Given the description of an element on the screen output the (x, y) to click on. 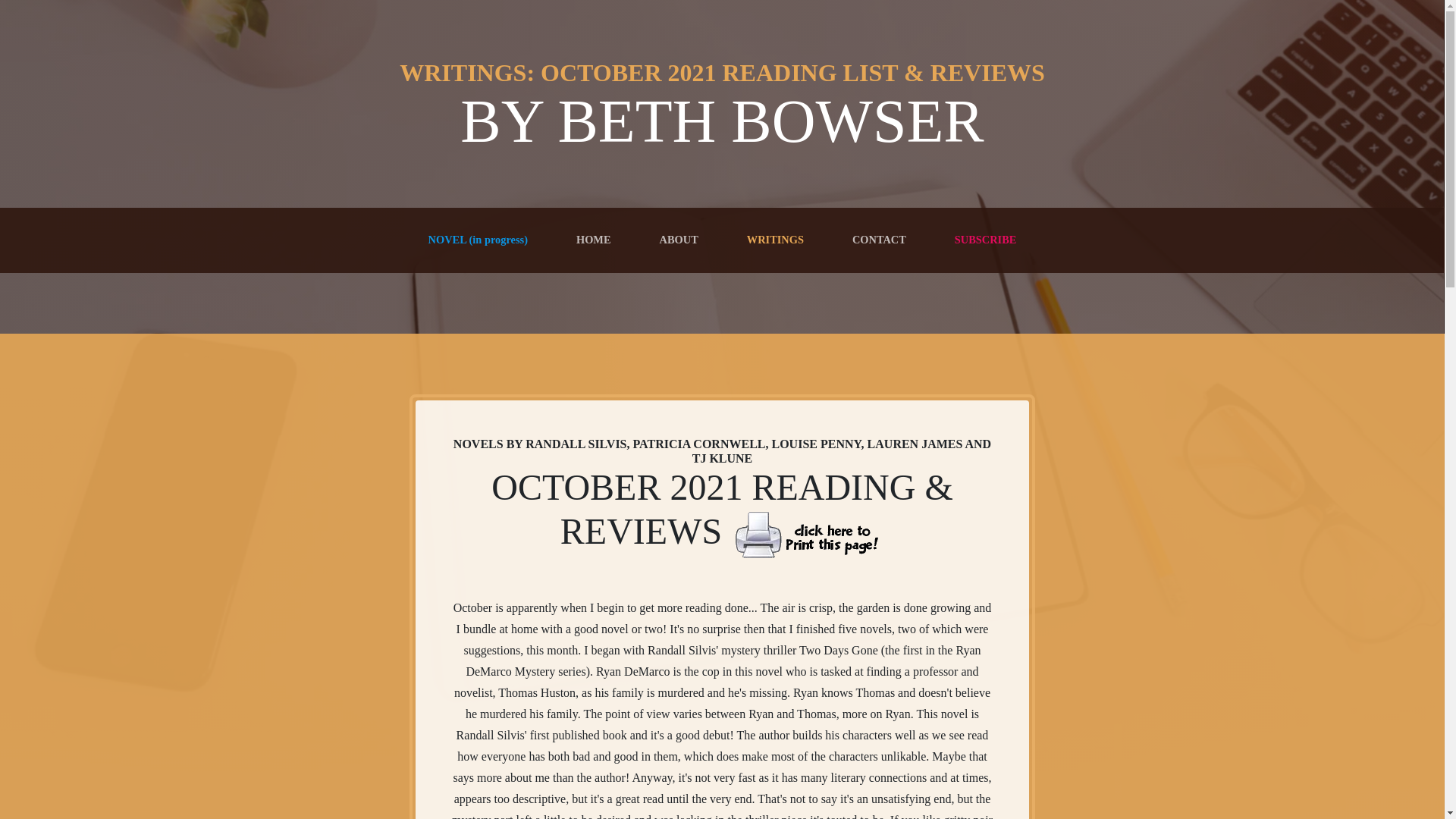
SUBSCRIBE (986, 240)
CONTACT (878, 240)
ABOUT (678, 240)
HOME (593, 240)
